Given the description of an element on the screen output the (x, y) to click on. 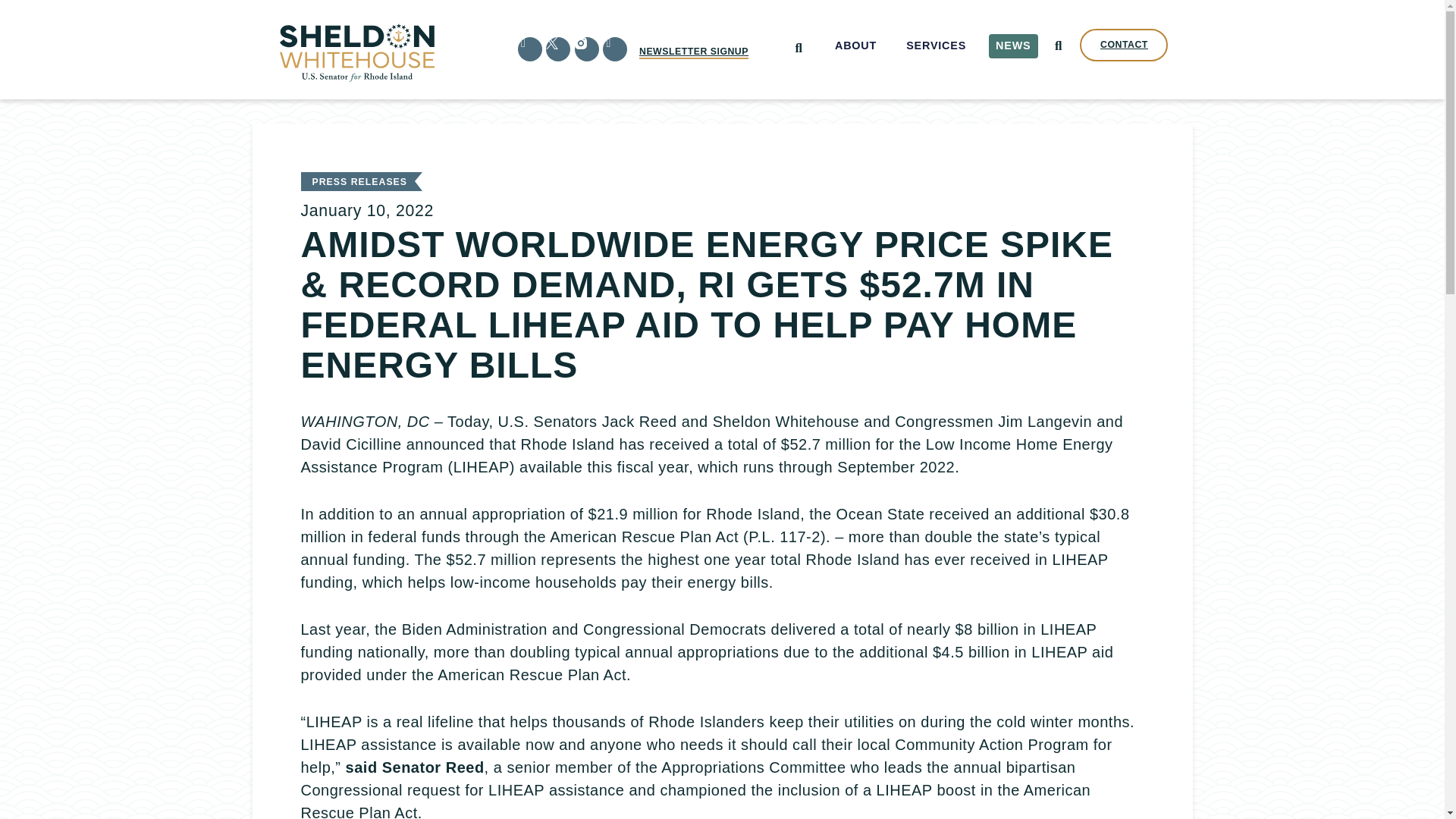
CONTACT (1123, 44)
NEWSLETTER SIGNUP (693, 51)
NEWS (1013, 46)
PRESS RELEASES (360, 181)
ABOUT (855, 46)
SERVICES (936, 46)
